Given the description of an element on the screen output the (x, y) to click on. 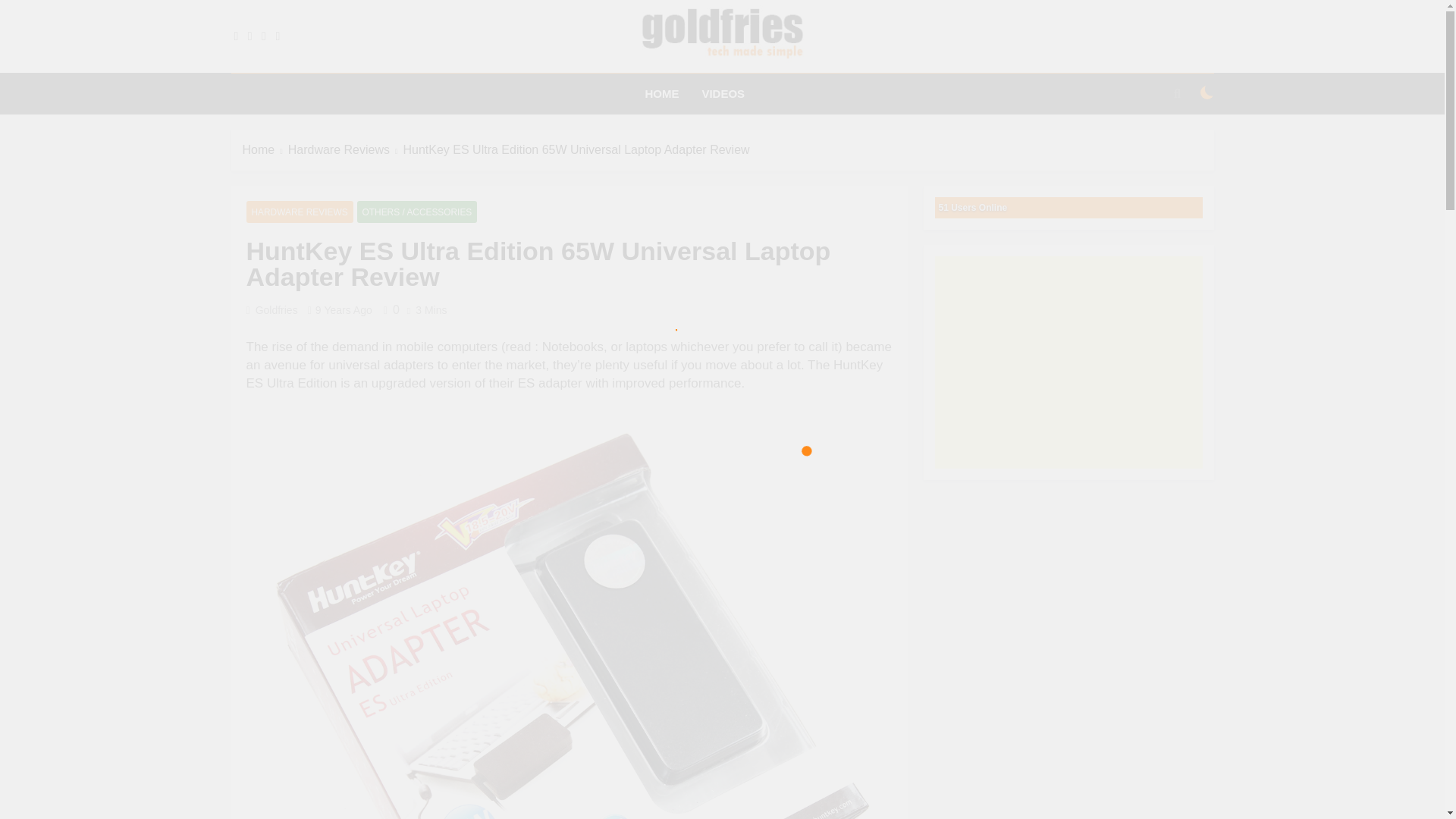
Goldfries (548, 85)
on (1206, 92)
Home (265, 149)
Goldfries (277, 309)
9 Years Ago (343, 309)
0 (388, 309)
VIDEOS (722, 93)
Advertisement (1068, 362)
Hardware Reviews (345, 149)
HOME (661, 93)
